Given the description of an element on the screen output the (x, y) to click on. 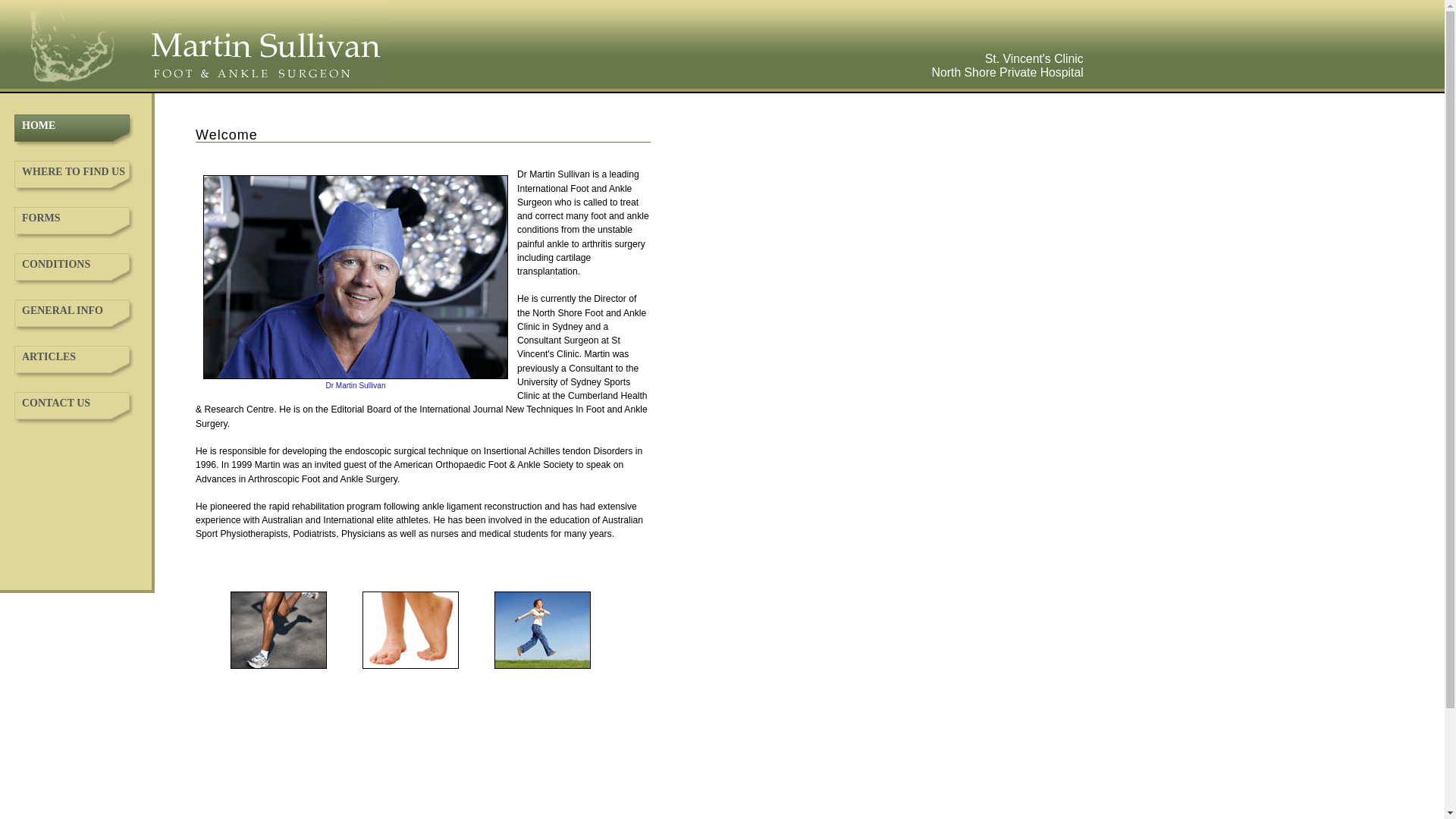
ARTICLES Element type: text (74, 354)
GENERAL INFO Element type: text (74, 308)
FORMS Element type: text (74, 216)
CONDITIONS Element type: text (74, 262)
CONTACT US Element type: text (74, 401)
WHERE TO FIND US Element type: text (74, 169)
HOME Element type: text (74, 123)
